Given the description of an element on the screen output the (x, y) to click on. 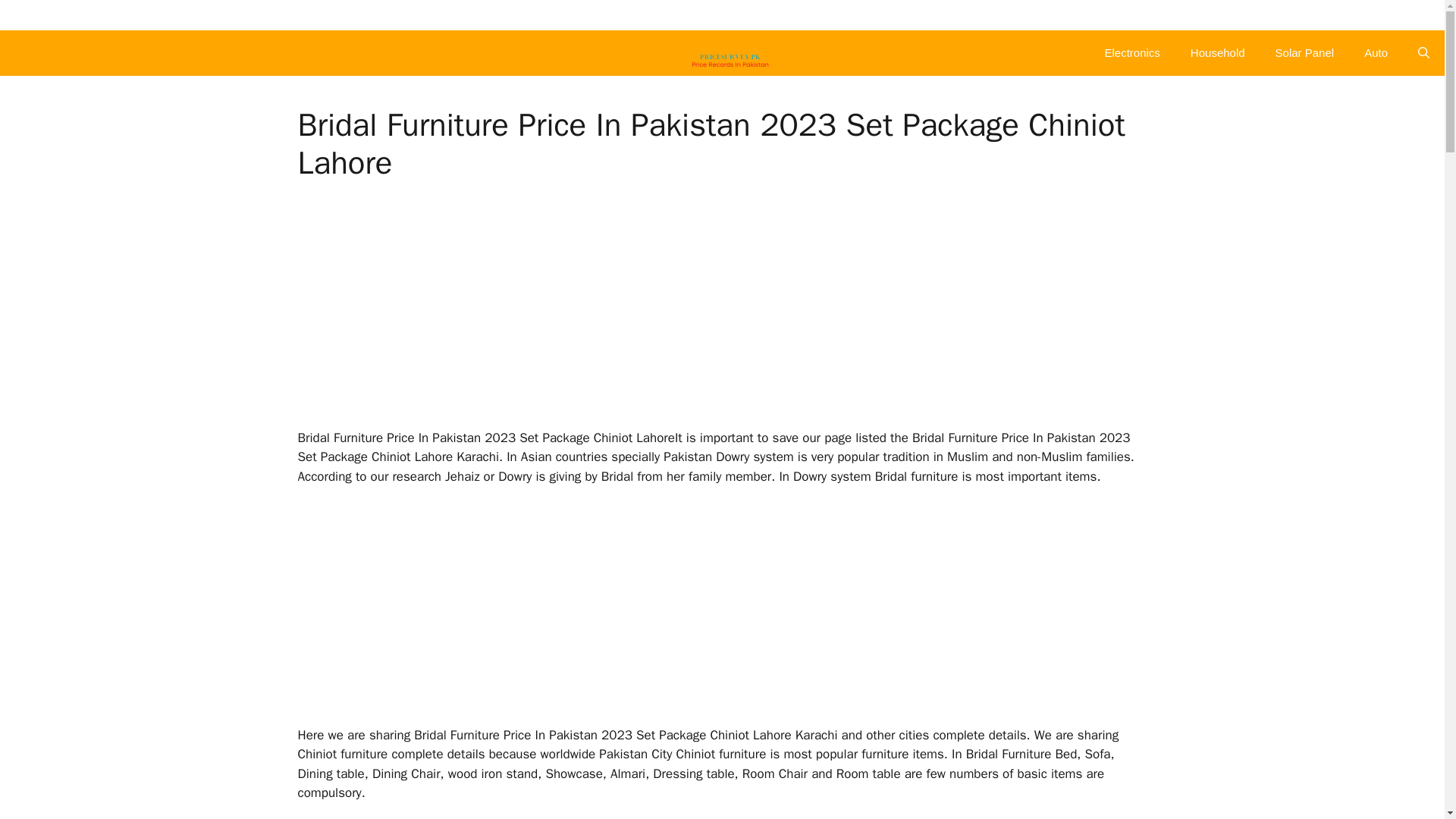
Solar Panel (1304, 53)
Auto (1376, 53)
Electronics (1131, 53)
Price In Pakistan (730, 52)
Household (1217, 53)
